Given the description of an element on the screen output the (x, y) to click on. 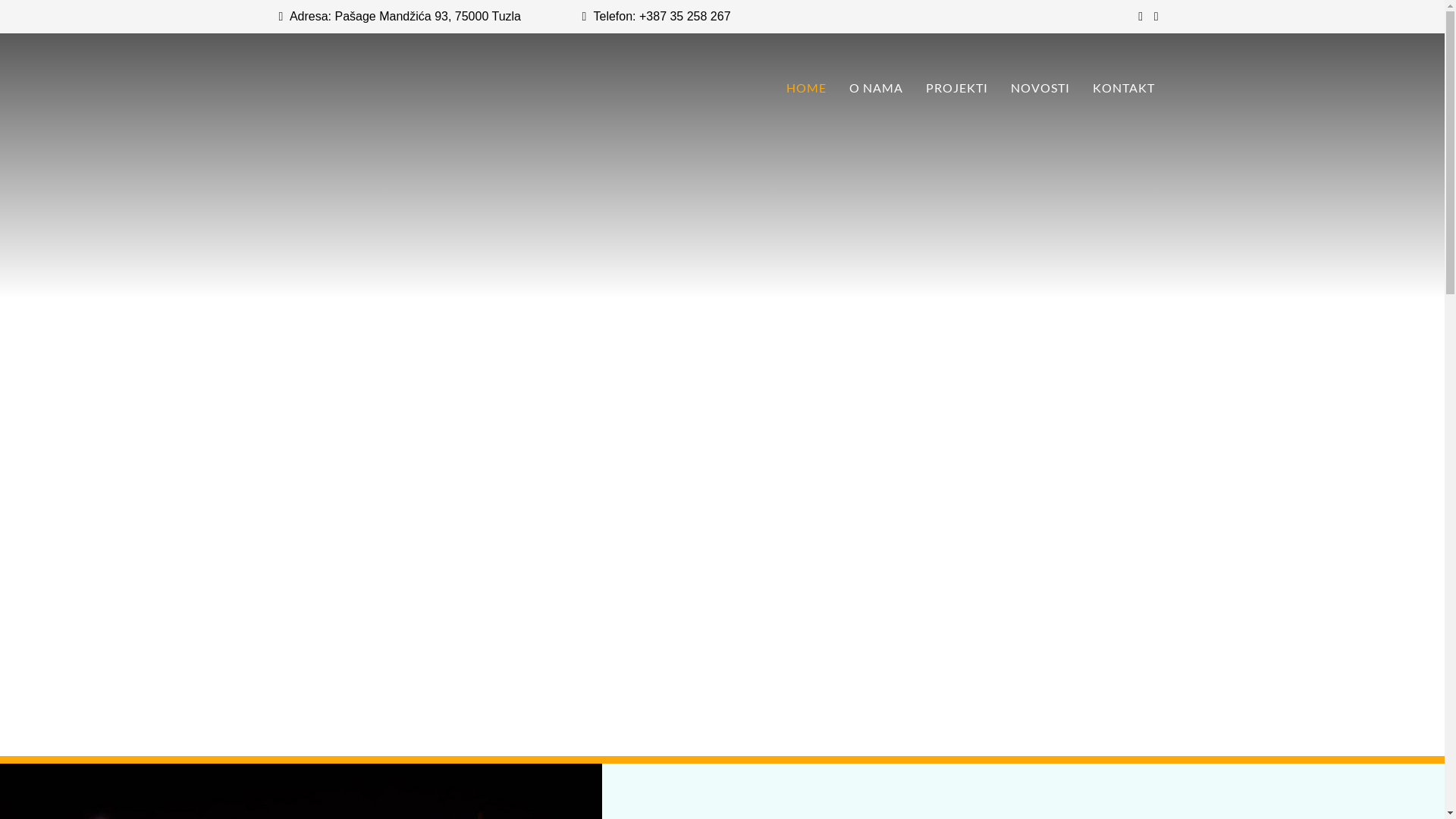
O NAMA Element type: text (875, 87)
+387 35 258 267 Element type: text (685, 15)
HOME Element type: text (806, 87)
KONTAKT Element type: text (1123, 87)
PROJEKTI Element type: text (956, 87)
NOVOSTI Element type: text (1040, 87)
